Given the description of an element on the screen output the (x, y) to click on. 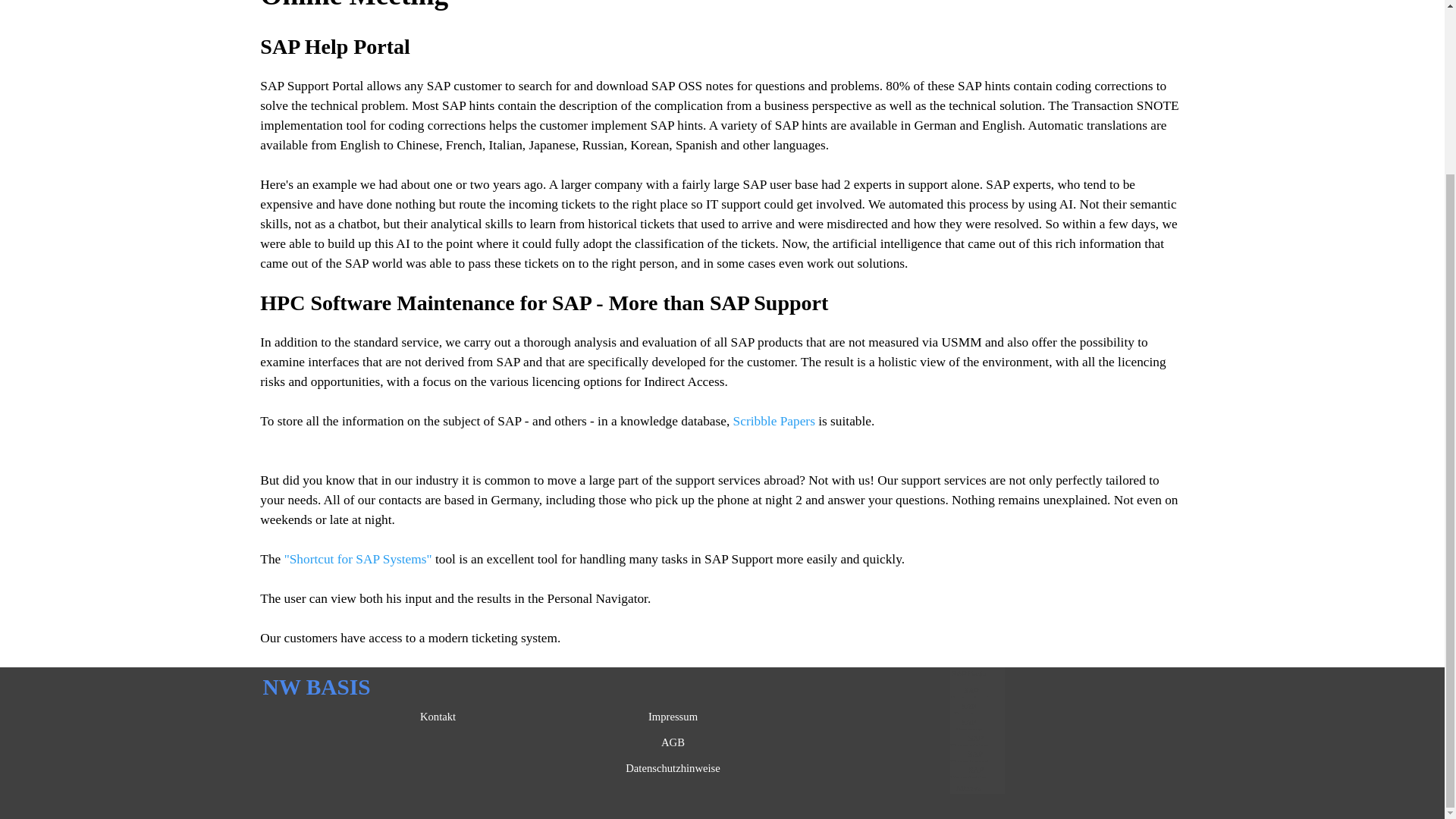
Kontakt (438, 716)
Scribble Papers (774, 421)
AGB (672, 742)
Impressum (672, 716)
Datenschutzhinweise (672, 767)
Mirrors (968, 787)
"Shortcut for SAP Systems" (357, 559)
